Given the description of an element on the screen output the (x, y) to click on. 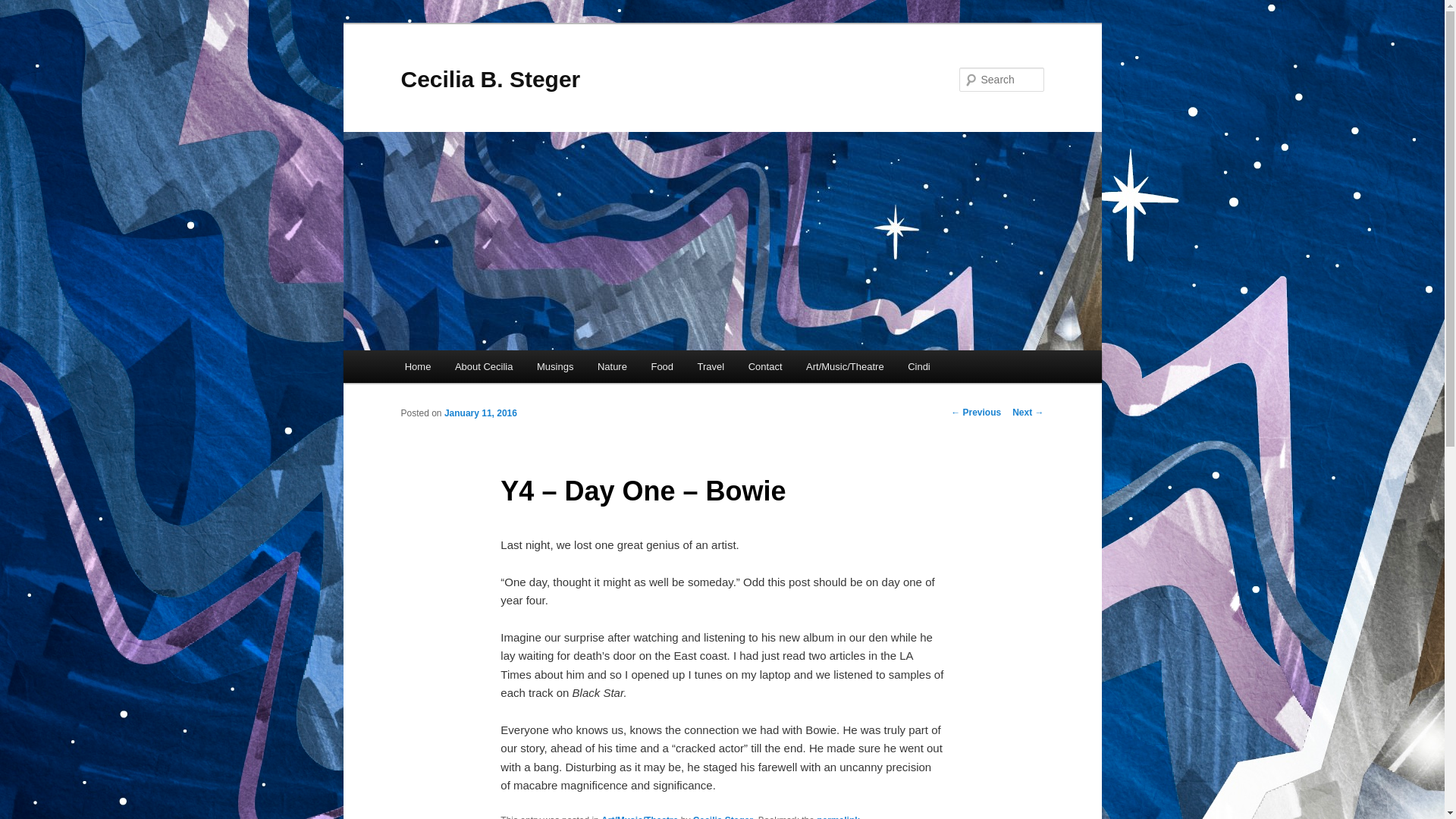
Contact (764, 366)
Cindi (918, 366)
Musings (554, 366)
Nature (612, 366)
Travel (710, 366)
Cecilia B. Steger (489, 78)
12:18 pm (480, 412)
January 11, 2016 (480, 412)
Food (662, 366)
